Given the description of an element on the screen output the (x, y) to click on. 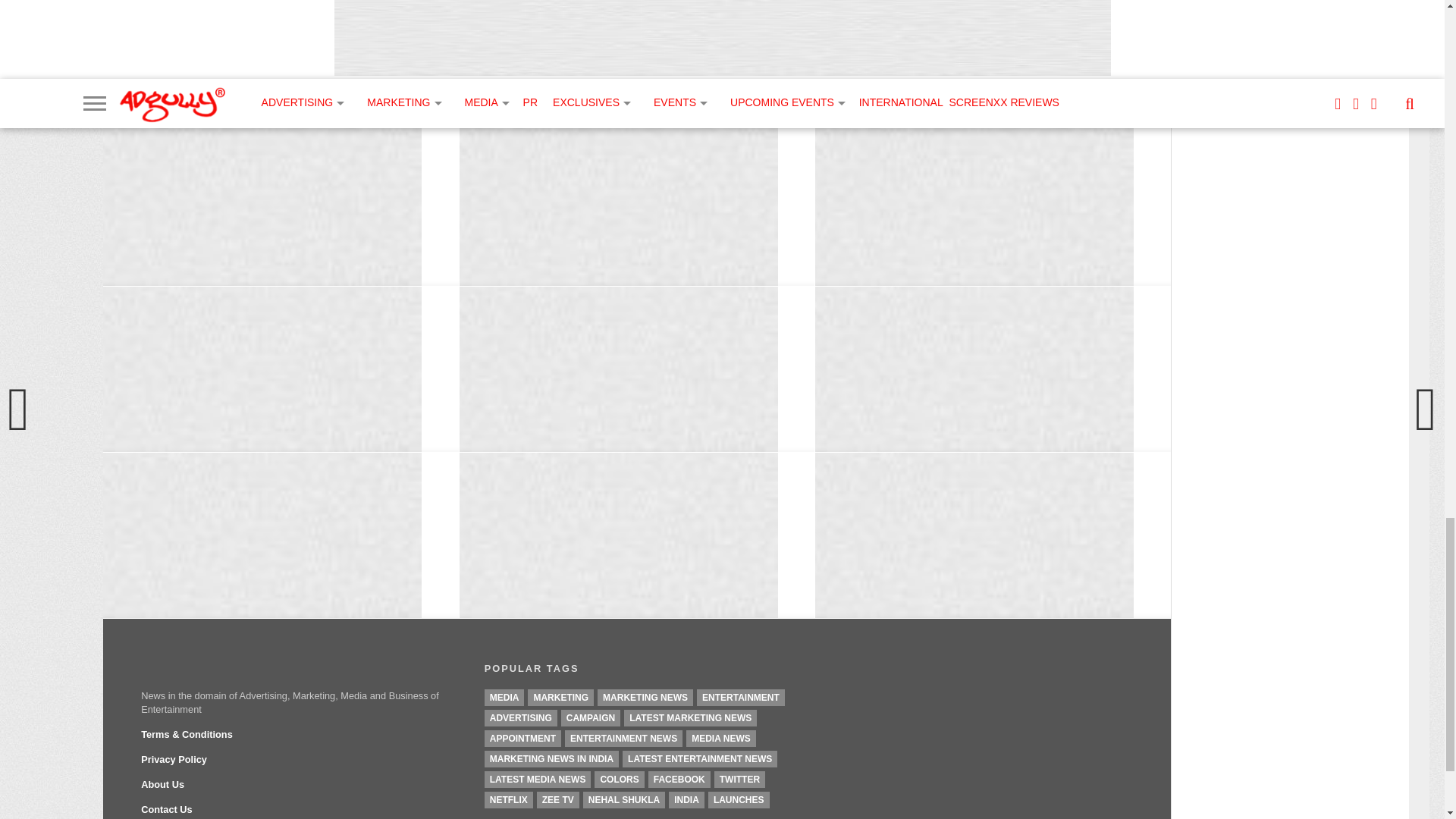
Entertainment (740, 697)
Marketing News (644, 697)
Marketing (560, 697)
Media (504, 697)
Campaign (590, 718)
Latest Marketing News (690, 718)
Appointment (522, 738)
Entertainment News (623, 738)
Advertising (520, 718)
